Given the description of an element on the screen output the (x, y) to click on. 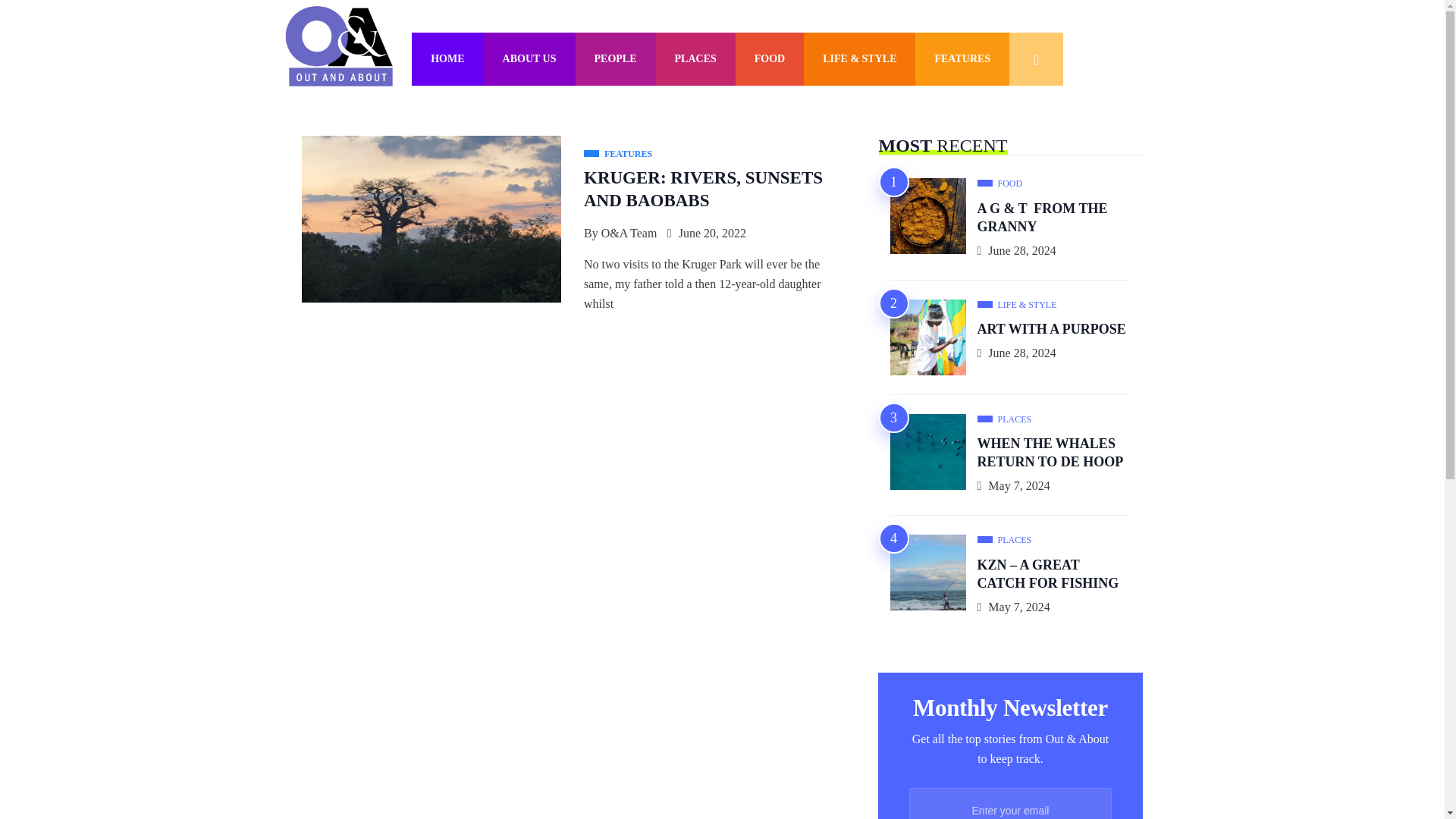
PEOPLE (615, 58)
ABOUT US (529, 58)
FEATURES (962, 58)
ART WITH A PURPOSE (1050, 330)
KRUGER: RIVERS, SUNSETS AND BAOBABS (702, 190)
KRUGER: RIVERS, SUNSETS AND BAOBABS (702, 190)
FOOD (999, 183)
PLACES (1003, 540)
WHEN THE WHALES RETURN TO DE HOOP  (1050, 453)
ART WITH A PURPOSE (1050, 330)
FEATURES (617, 154)
PLACES (695, 58)
PLACES (1003, 419)
HOME (447, 58)
